Given the description of an element on the screen output the (x, y) to click on. 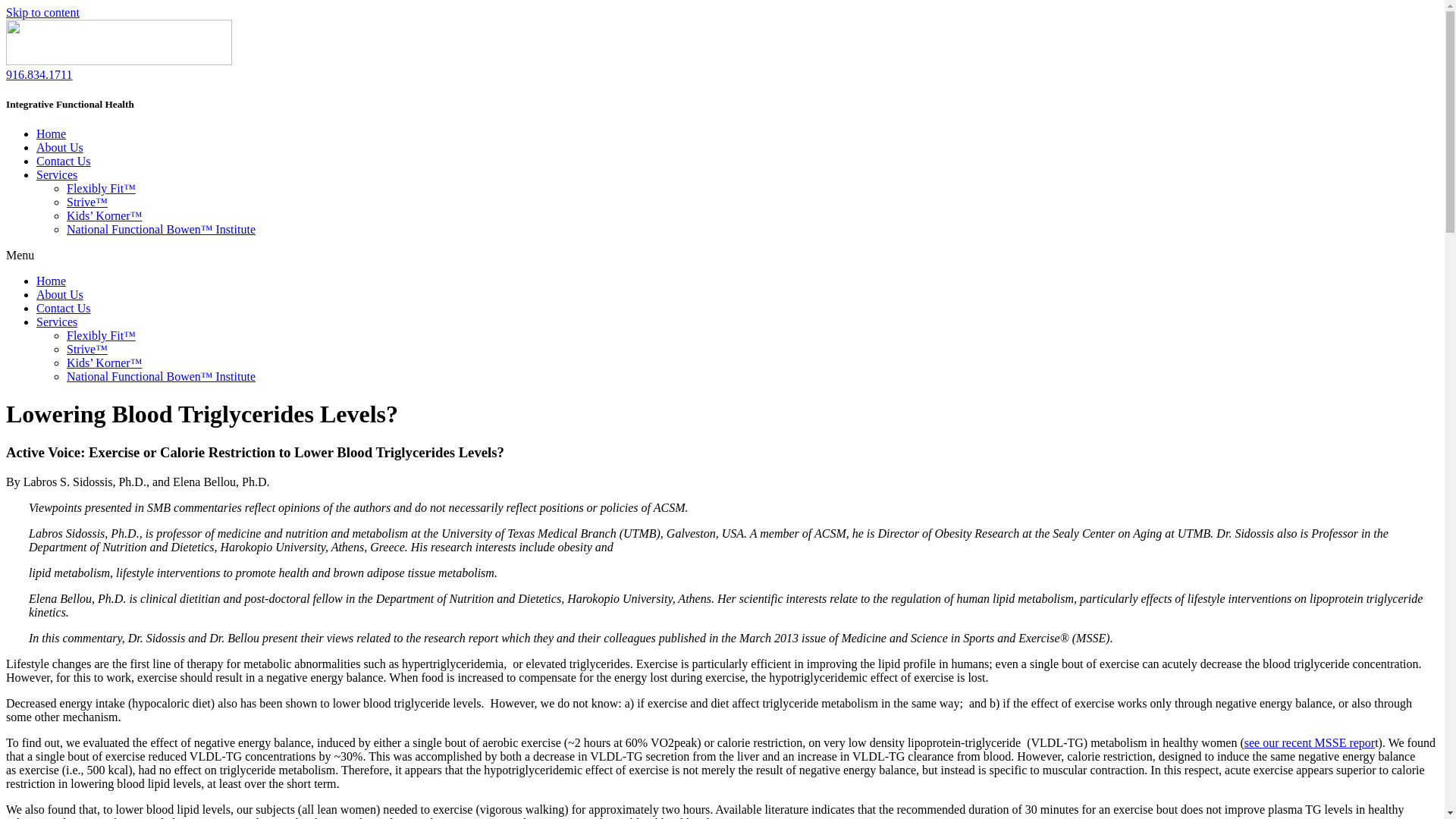
916.834.1711 (38, 74)
About Us (59, 146)
Skip to content (42, 11)
Contact Us (63, 160)
Home (50, 133)
Home (50, 280)
Services (56, 174)
see our recent MSSE repor (1309, 742)
Services (56, 321)
